Given the description of an element on the screen output the (x, y) to click on. 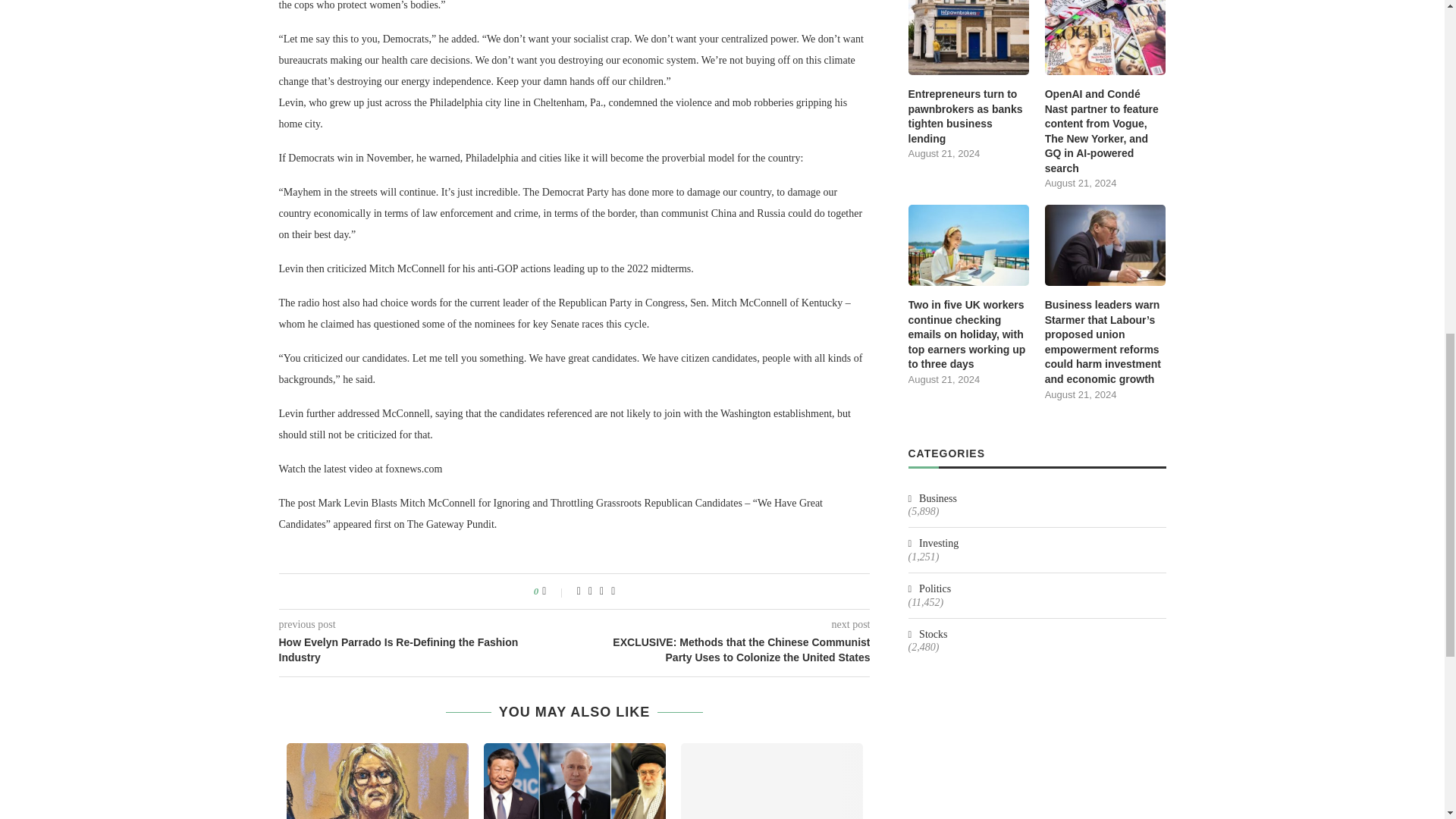
How Evelyn Parrado Is Re-Defining the Fashion Industry (427, 650)
Like (553, 591)
